Given the description of an element on the screen output the (x, y) to click on. 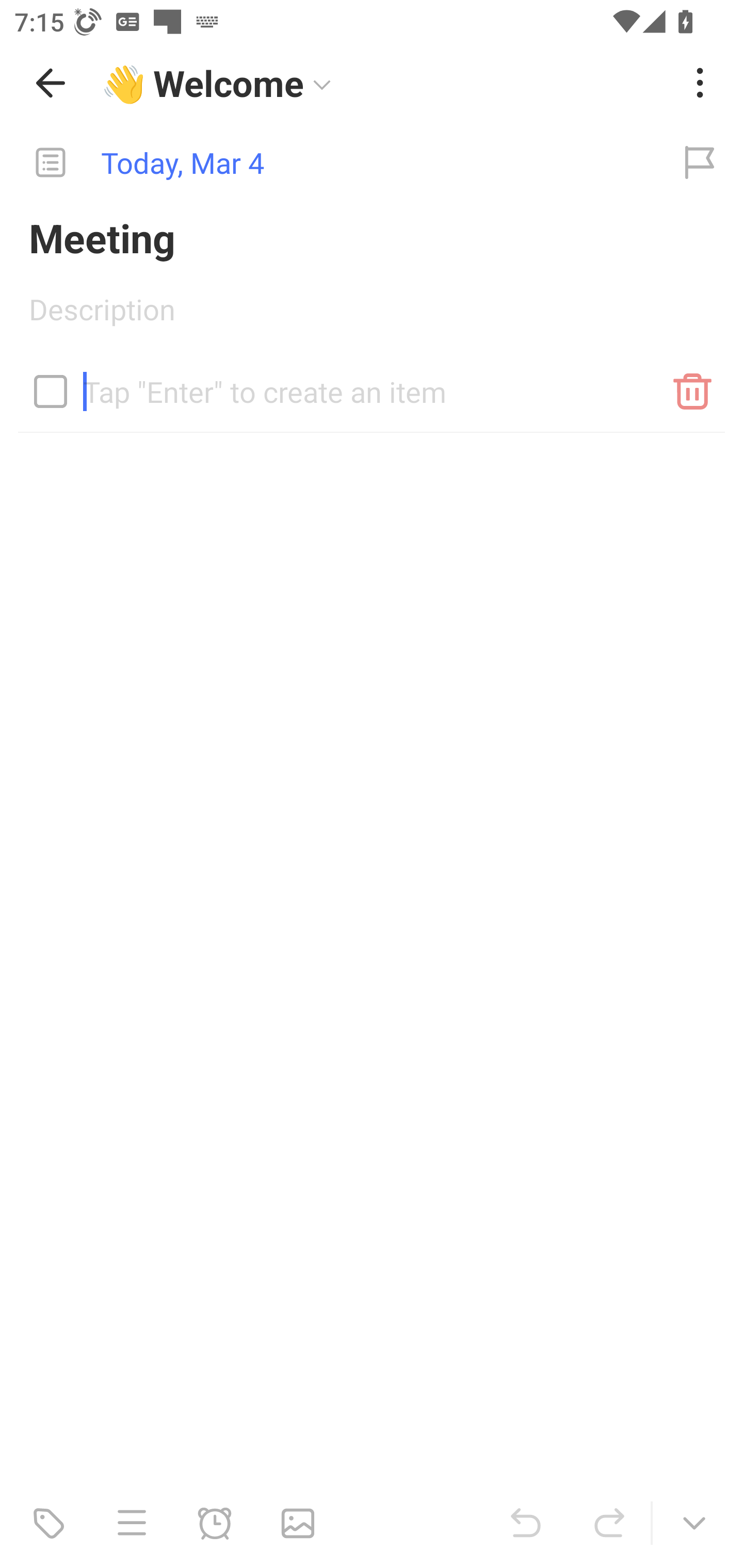
👋 Welcome (384, 82)
Today, Mar 4  (328, 163)
Meeting (371, 237)
Description (371, 315)
  (50, 390)
Tap "Enter" to create an item (371, 383)
